Given the description of an element on the screen output the (x, y) to click on. 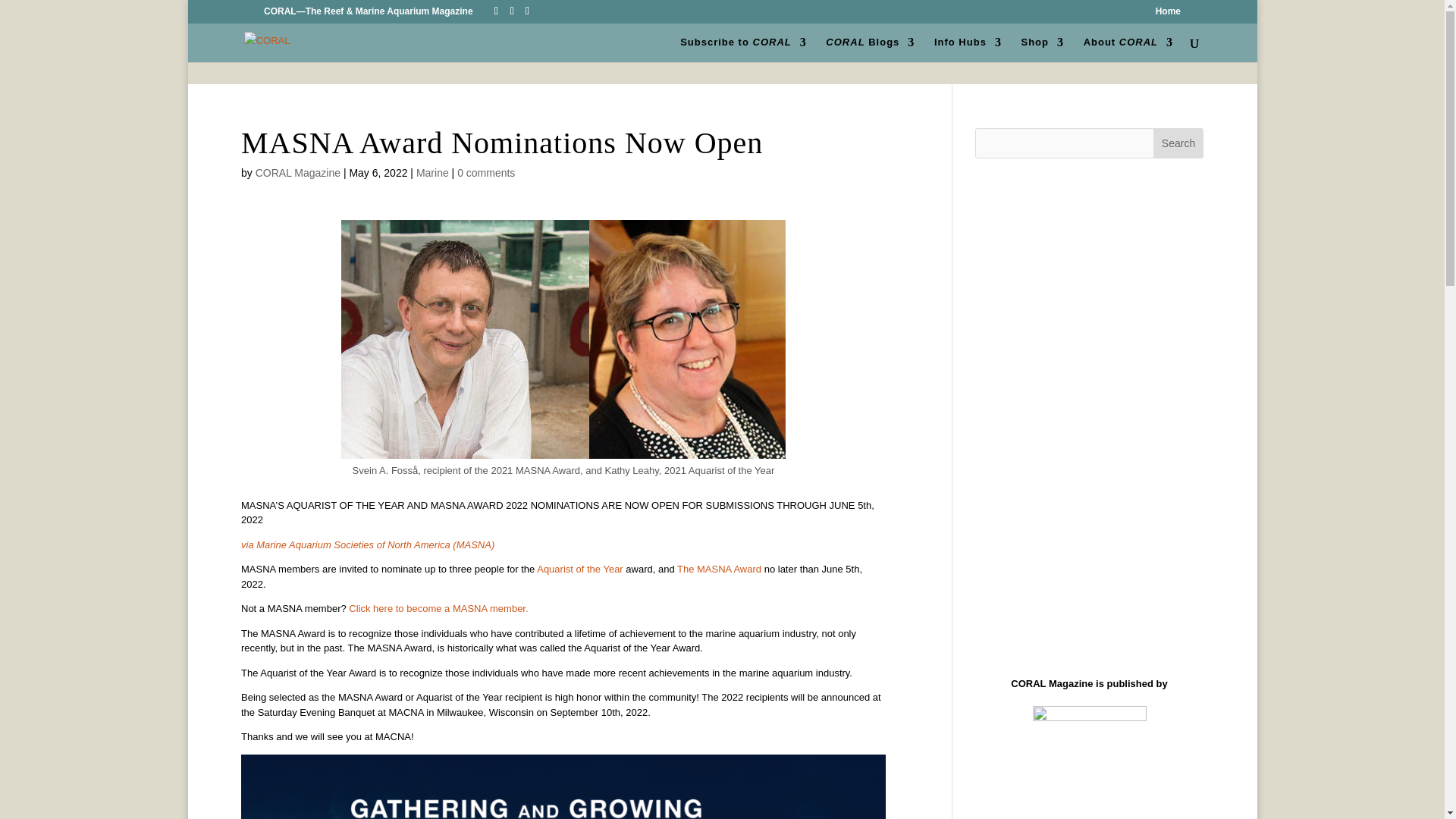
Info Hubs (967, 49)
Home (1168, 14)
CORAL Blogs (869, 49)
Subscribe to CORAL Magazine (742, 49)
Subscribe to CORAL (742, 49)
